Given the description of an element on the screen output the (x, y) to click on. 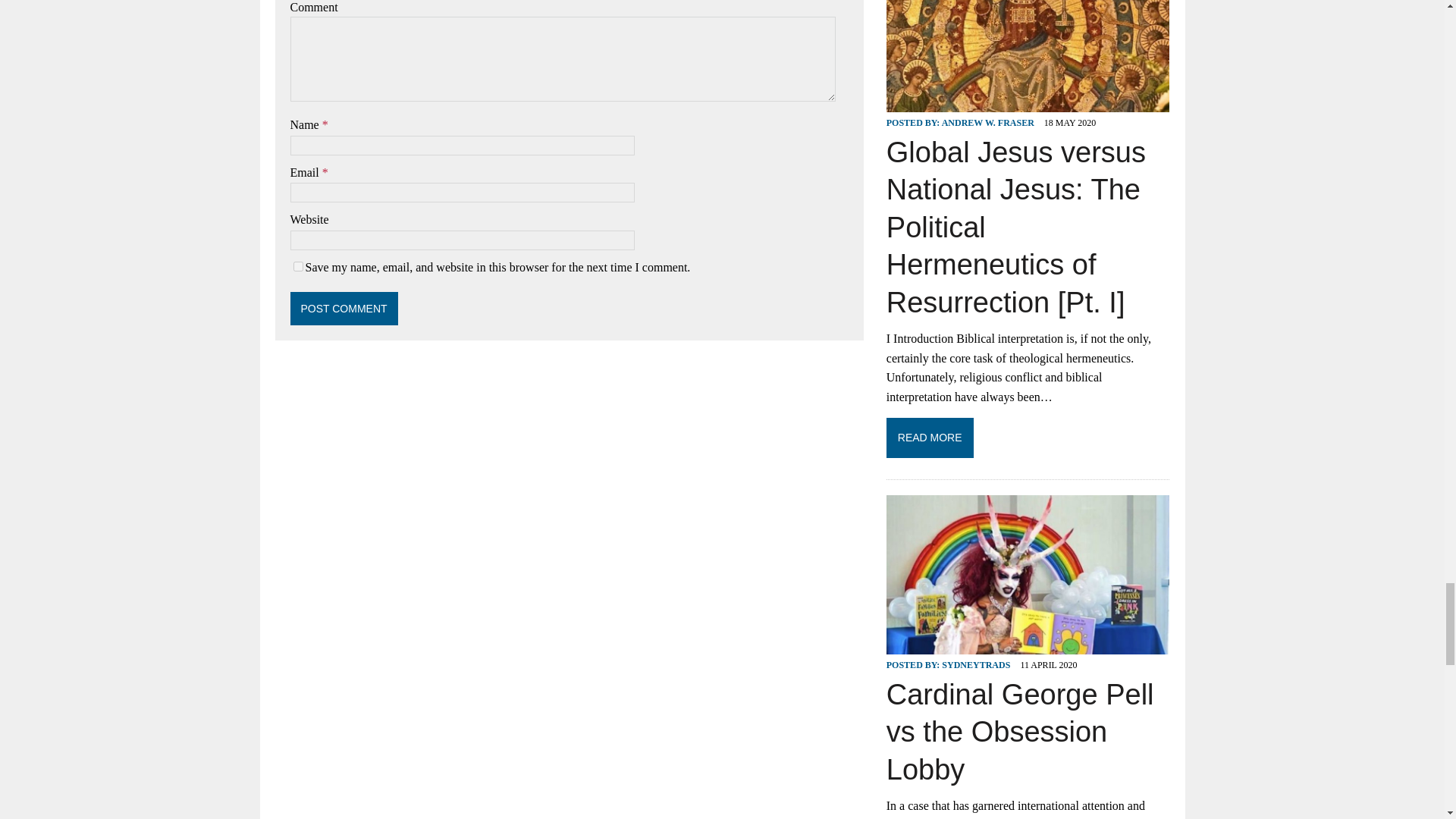
yes (297, 266)
Post Comment (343, 308)
